Given the description of an element on the screen output the (x, y) to click on. 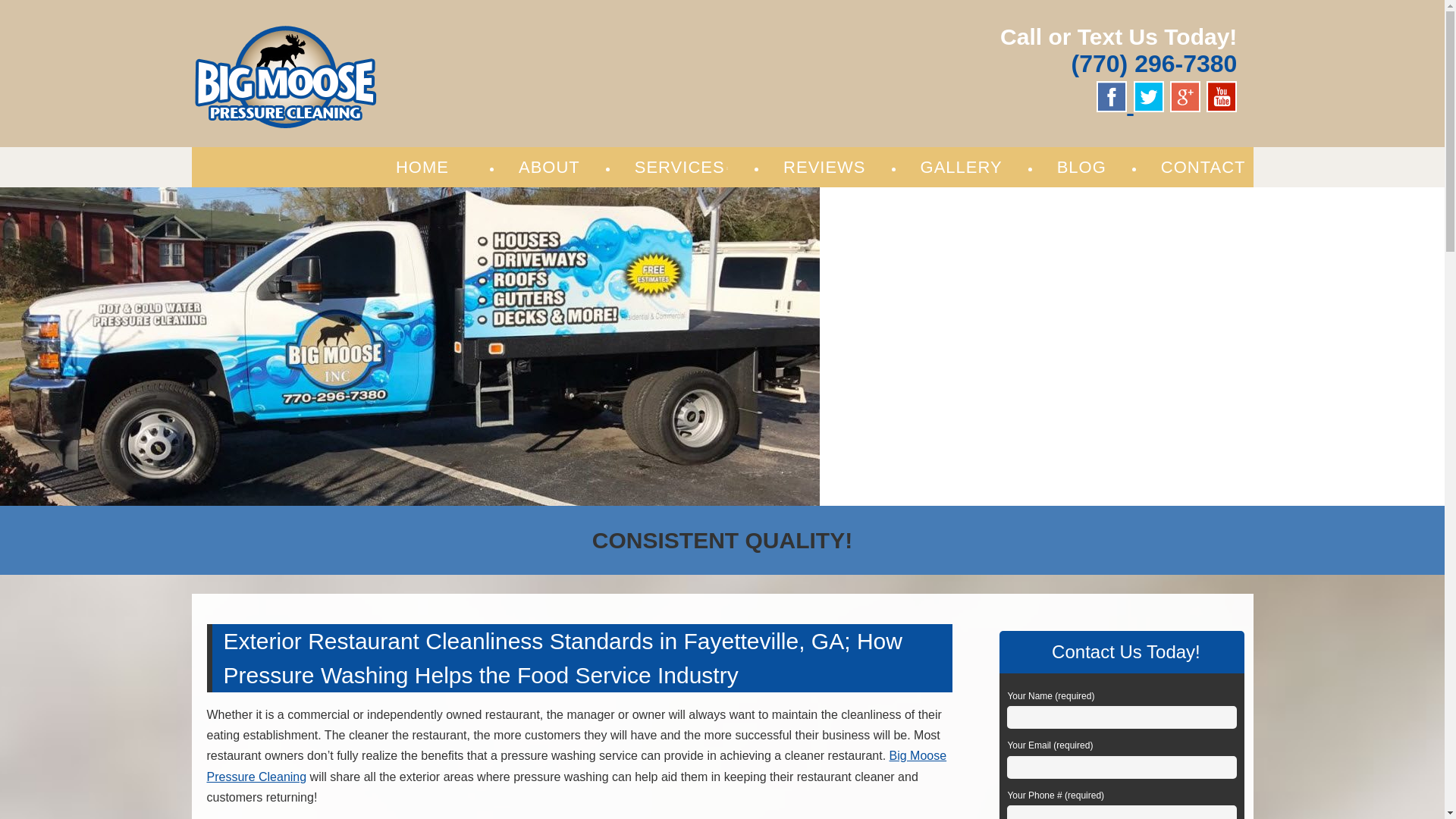
REVIEWS (824, 167)
SERVICES (681, 167)
ABOUT (549, 167)
BLOG (1081, 167)
Big Moose Pressure Cleaning (444, 39)
CONTACT (1203, 167)
GALLERY (961, 167)
HOME (422, 167)
Big Moose Pressure Cleaning (576, 765)
BIG MOOSE PRESSURE CLEANING (444, 39)
